Given the description of an element on the screen output the (x, y) to click on. 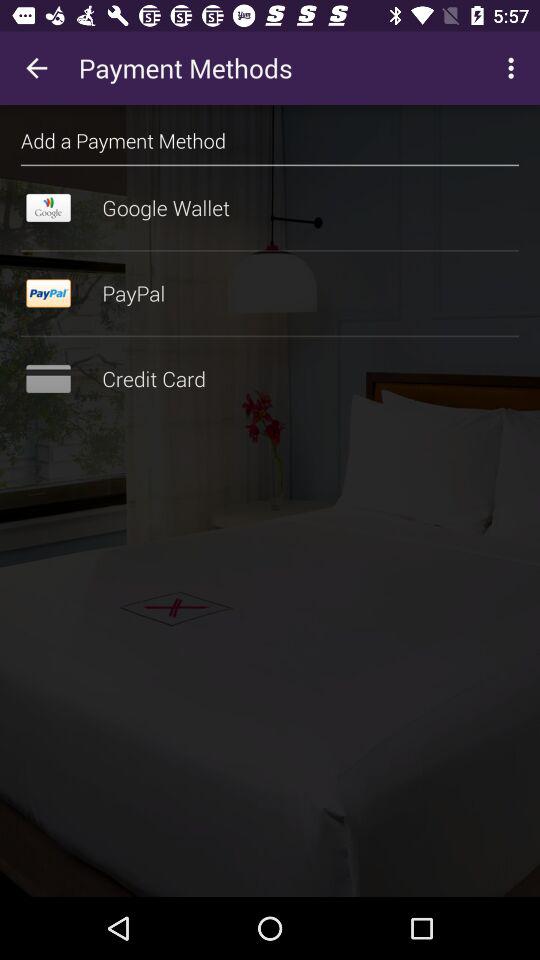
tap item to the right of the payment methods (513, 67)
